Given the description of an element on the screen output the (x, y) to click on. 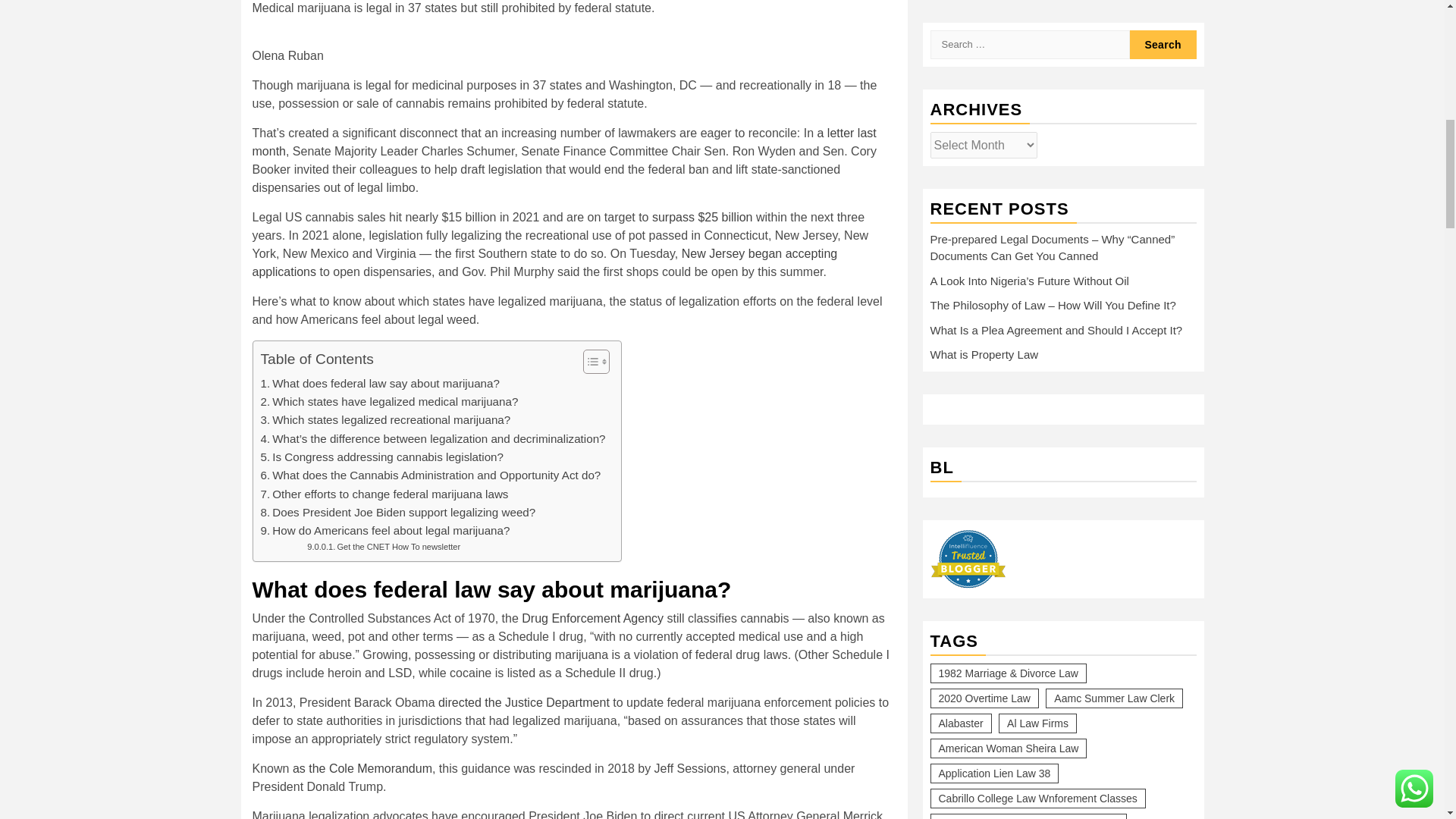
directed the Justice Department (524, 702)
Get the CNET How To newsletter (383, 547)
How do Americans feel about legal marijuana? (385, 530)
Drug Enforcement Agency (592, 617)
Which states have legalized medical marijuana? (389, 402)
How do Americans feel about legal marijuana? (385, 530)
Does President Joe Biden support legalizing weed? (397, 512)
Which states legalized recreational marijuana? (385, 420)
New Jersey began accepting applications (544, 262)
Does President Joe Biden support legalizing weed? (397, 512)
